Given the description of an element on the screen output the (x, y) to click on. 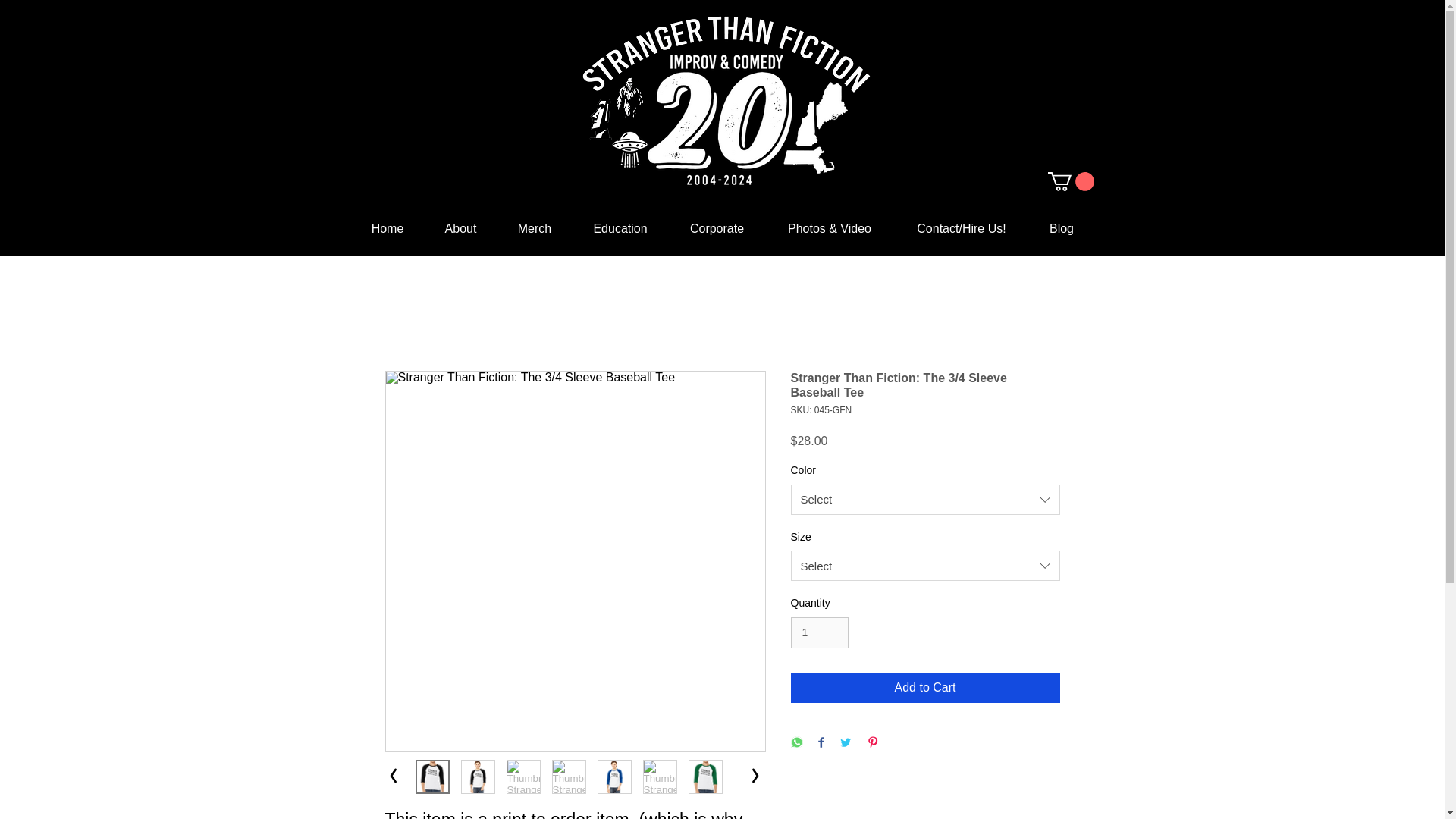
Home (386, 228)
Select (924, 499)
Merch (534, 228)
Add to Cart (924, 687)
About (461, 228)
1 (818, 632)
Blog (1061, 228)
Corporate (716, 228)
Education (620, 228)
Select (924, 565)
